Given the description of an element on the screen output the (x, y) to click on. 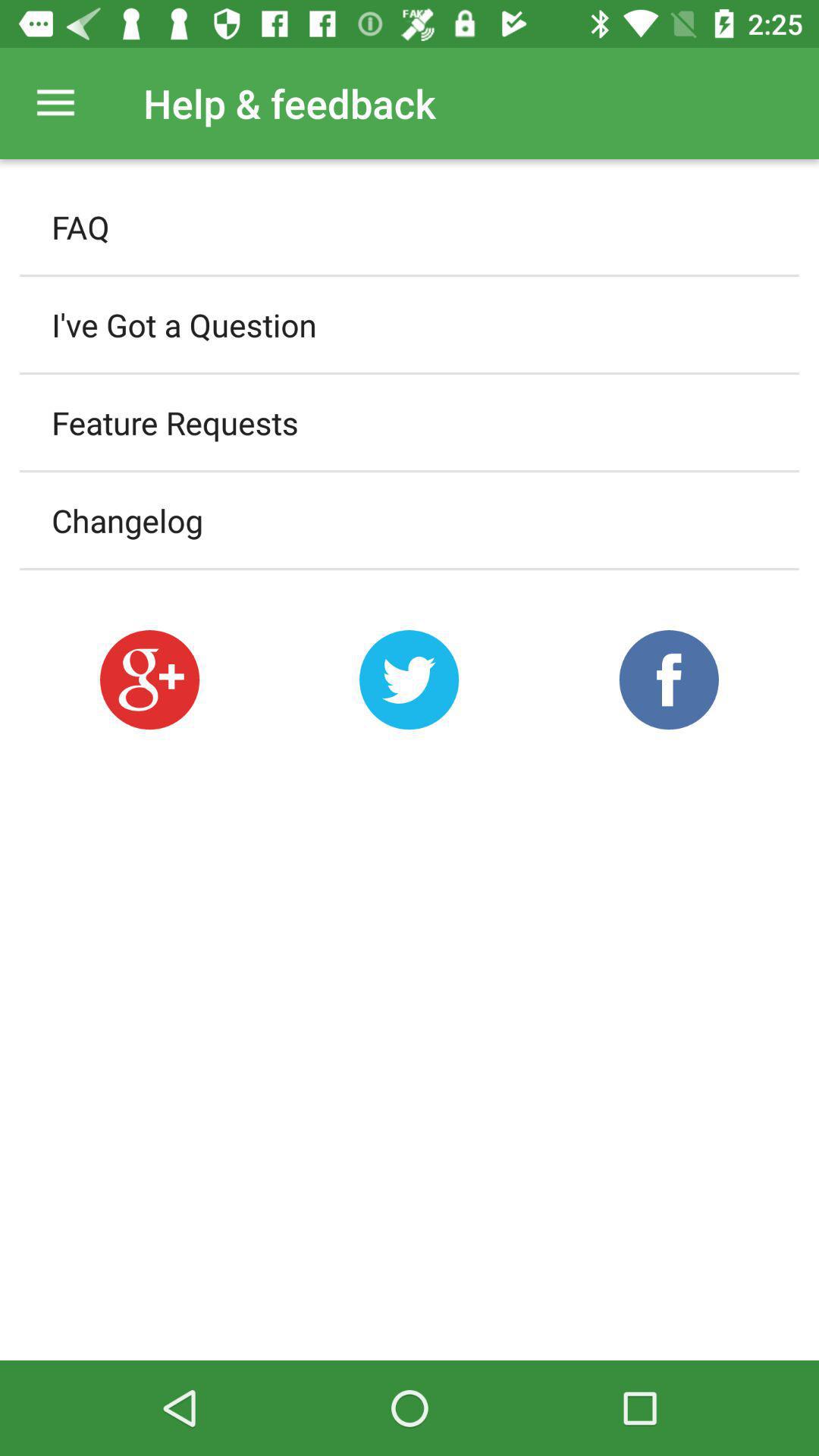
share on twitter (409, 679)
